Given the description of an element on the screen output the (x, y) to click on. 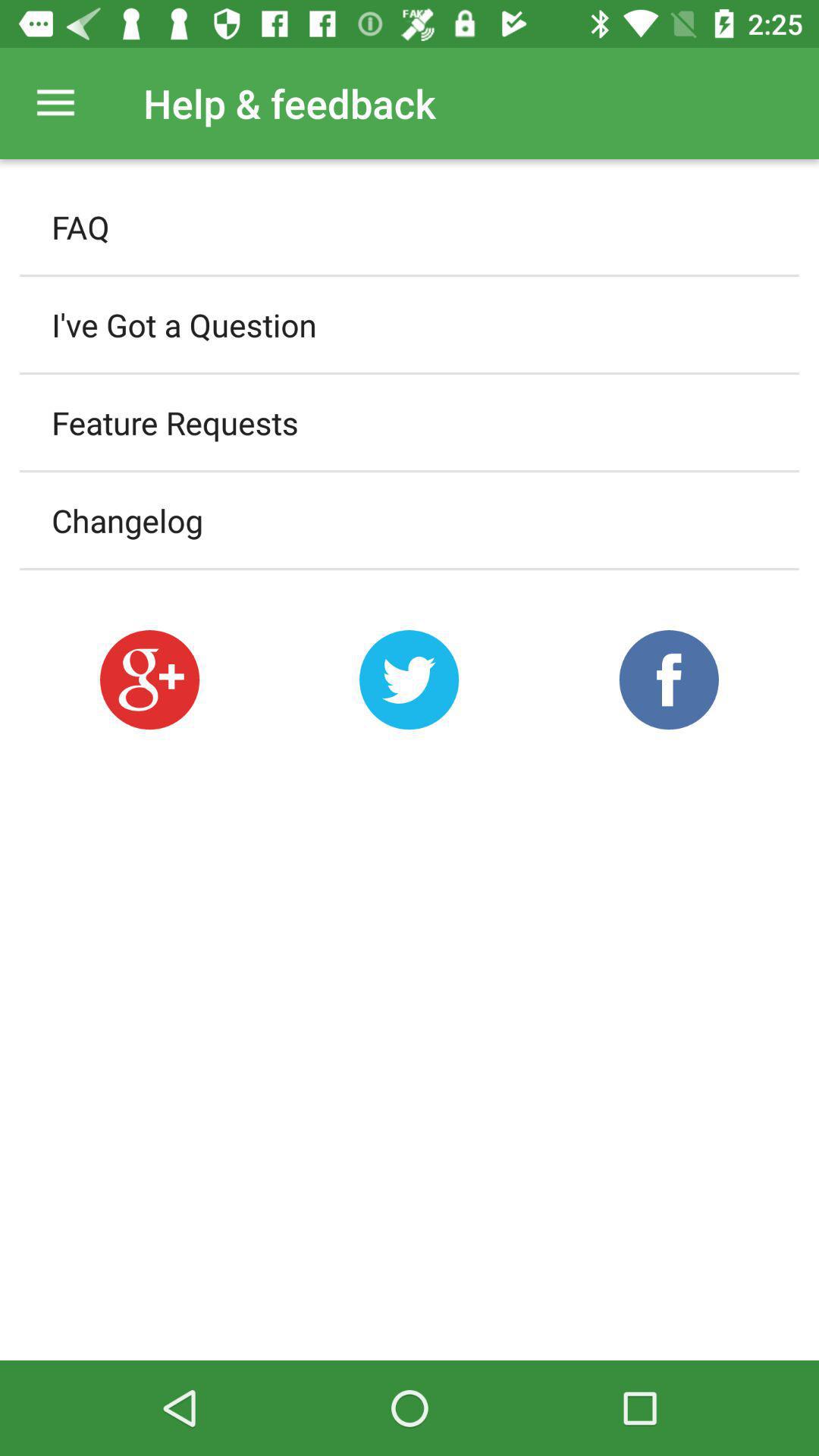
share on twitter (409, 679)
